Given the description of an element on the screen output the (x, y) to click on. 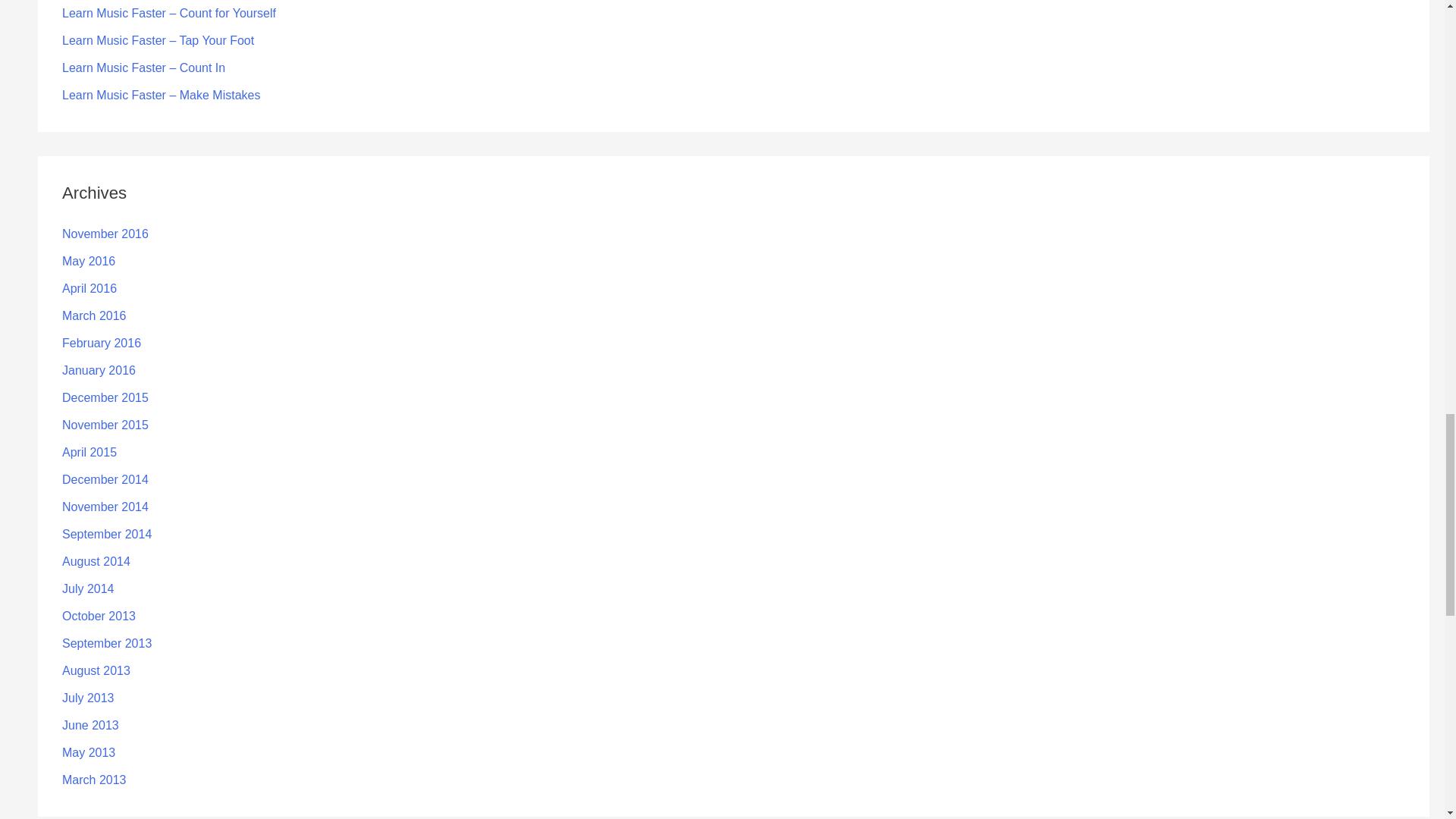
April 2016 (89, 287)
March 2016 (94, 315)
May 2016 (88, 260)
November 2016 (105, 233)
